Given the description of an element on the screen output the (x, y) to click on. 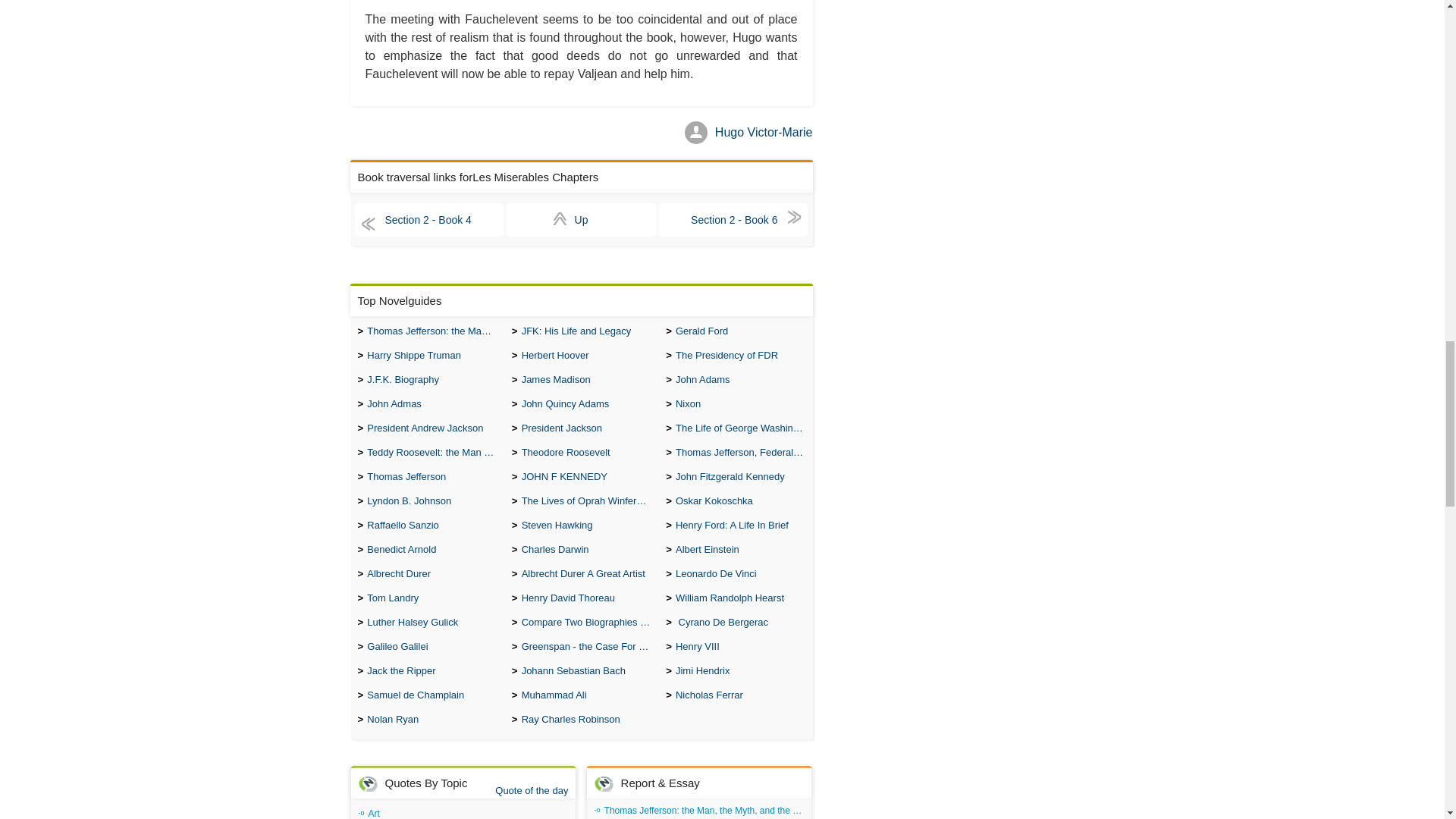
Quote of the day (531, 790)
Quotes on Art and Showbiz (462, 810)
Go to previous page (429, 219)
Go to parent page (581, 219)
Go to next page (733, 219)
